Given the description of an element on the screen output the (x, y) to click on. 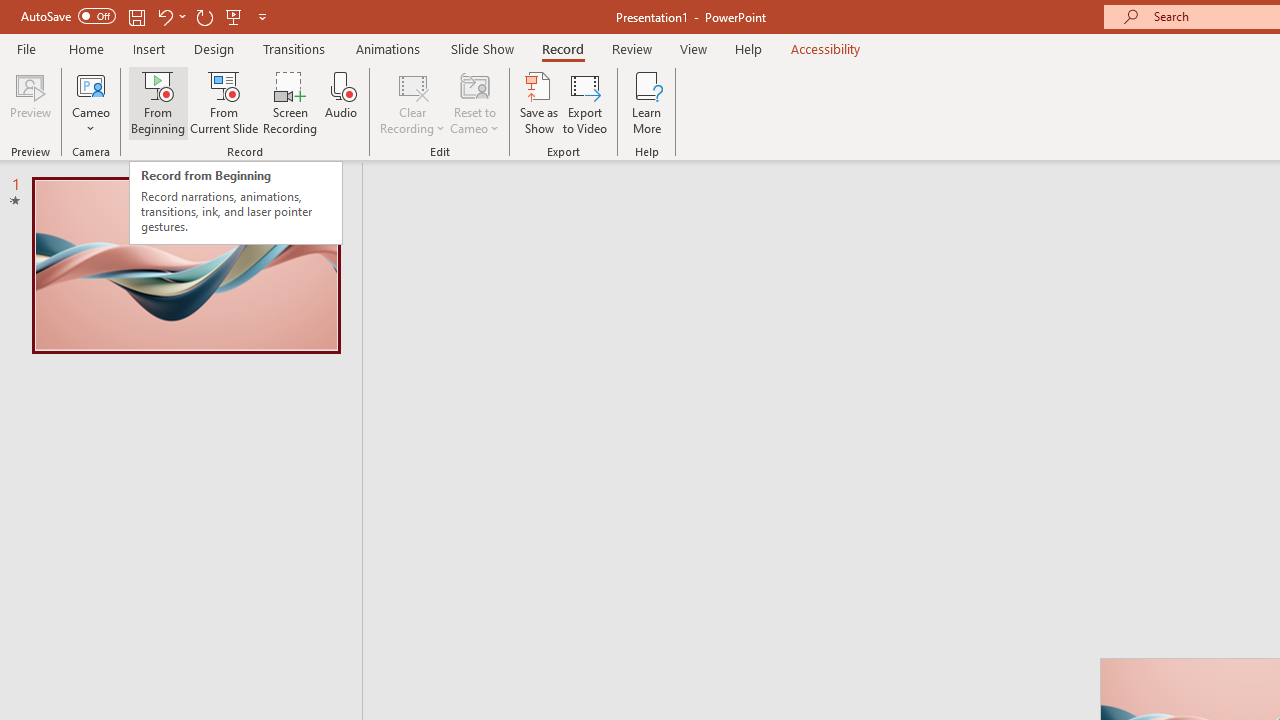
Save as Show (539, 102)
From Current Slide... (224, 102)
From Beginning... (158, 102)
Clear Recording (412, 102)
